Given the description of an element on the screen output the (x, y) to click on. 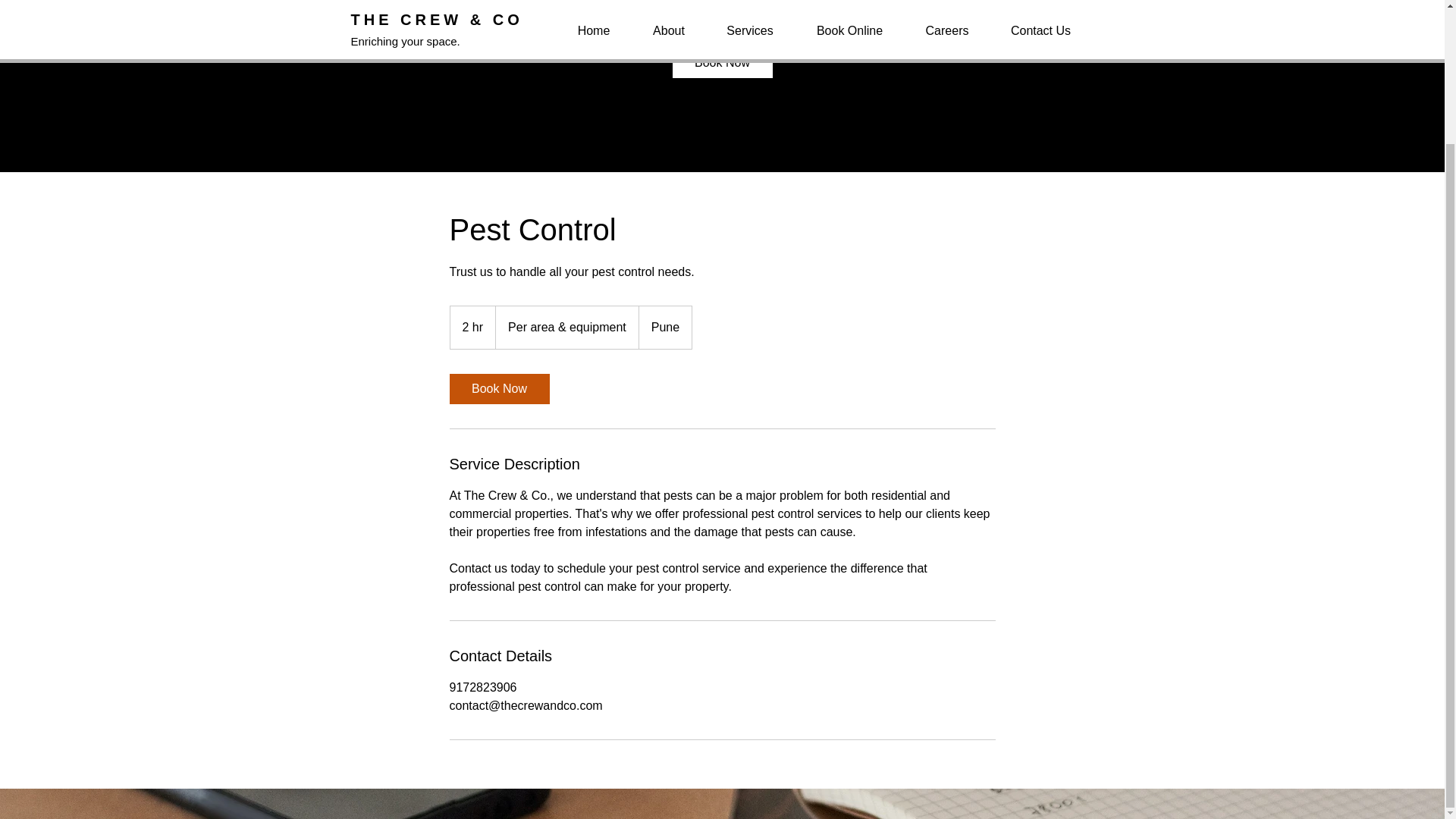
Book Now (721, 62)
Book Now (498, 388)
